Given the description of an element on the screen output the (x, y) to click on. 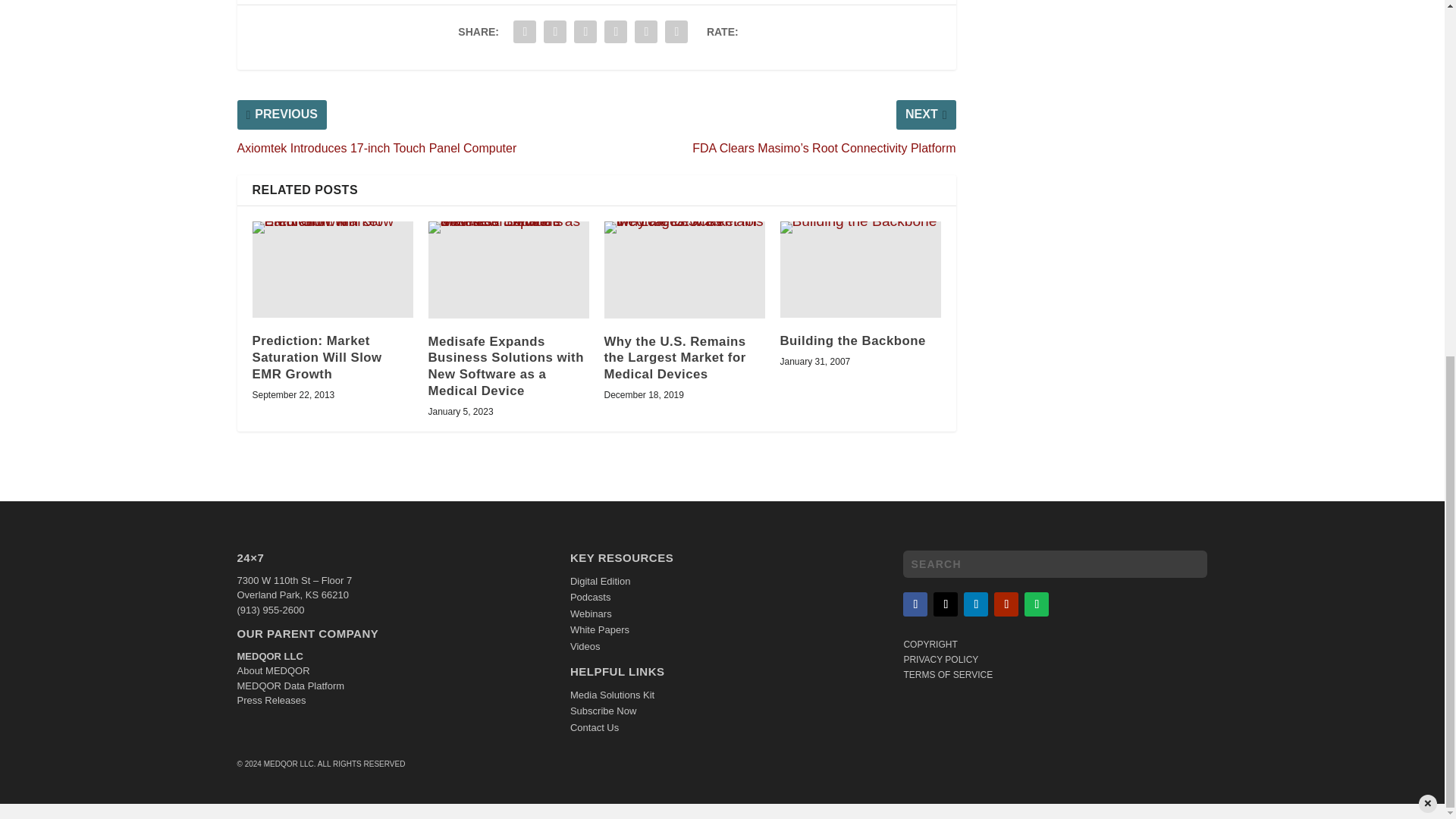
Why the U.S. Remains the Largest Market for Medical Devices (684, 269)
Follow on Facebook (914, 604)
Share "EarlySense Chair Sensor Comes to US Market" via Email (645, 31)
Building the Backbone (859, 269)
Share "EarlySense Chair Sensor Comes to US Market" via Print (676, 31)
Follow on X (945, 604)
Follow on Youtube (1005, 604)
Prediction: Market Saturation Will Slow EMR Growth (331, 269)
Follow on LinkedIn (975, 604)
